Given the description of an element on the screen output the (x, y) to click on. 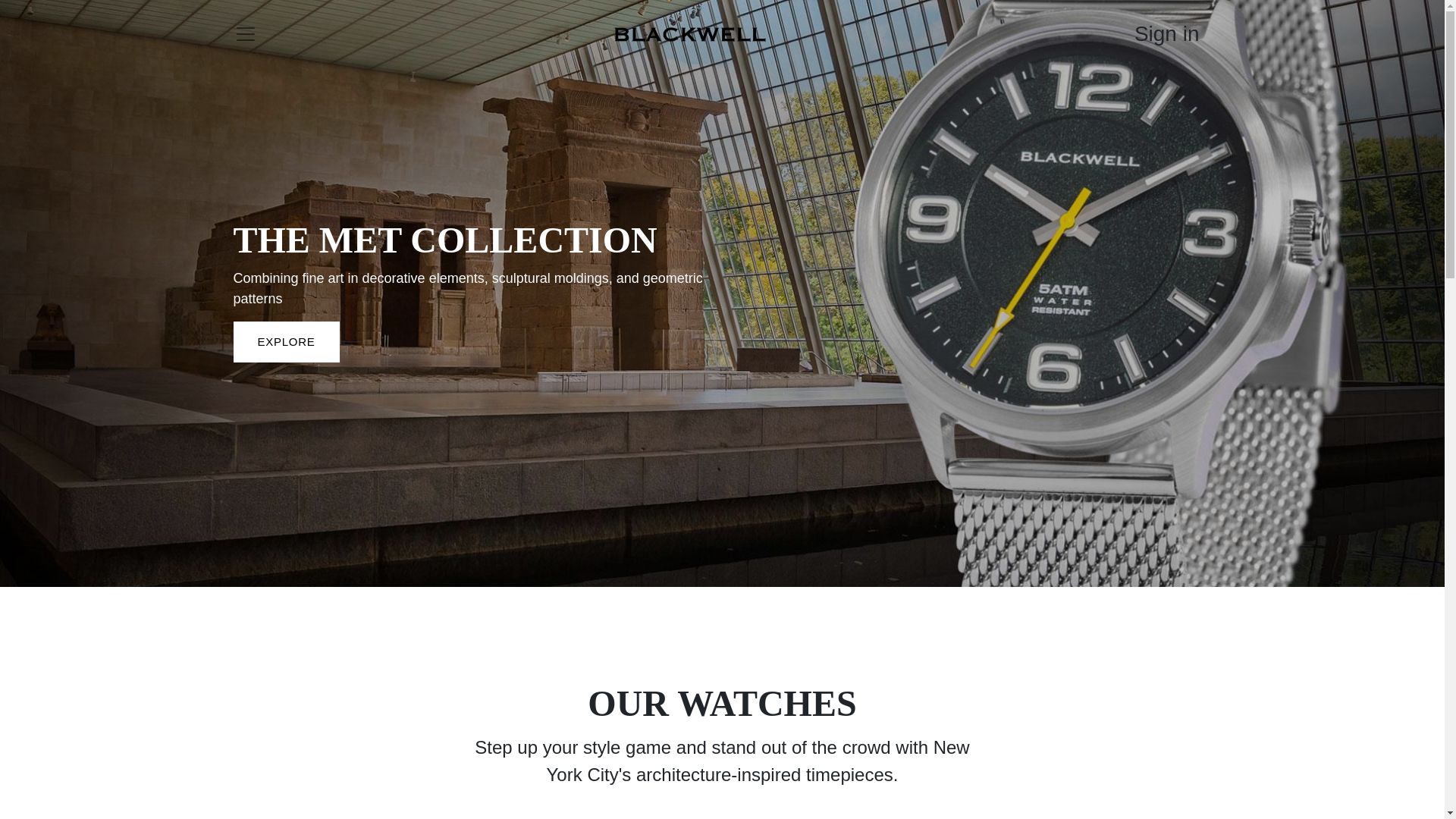
Sign in (1166, 34)
EXPLORE (285, 342)
Blackwell Watches (689, 33)
